Given the description of an element on the screen output the (x, y) to click on. 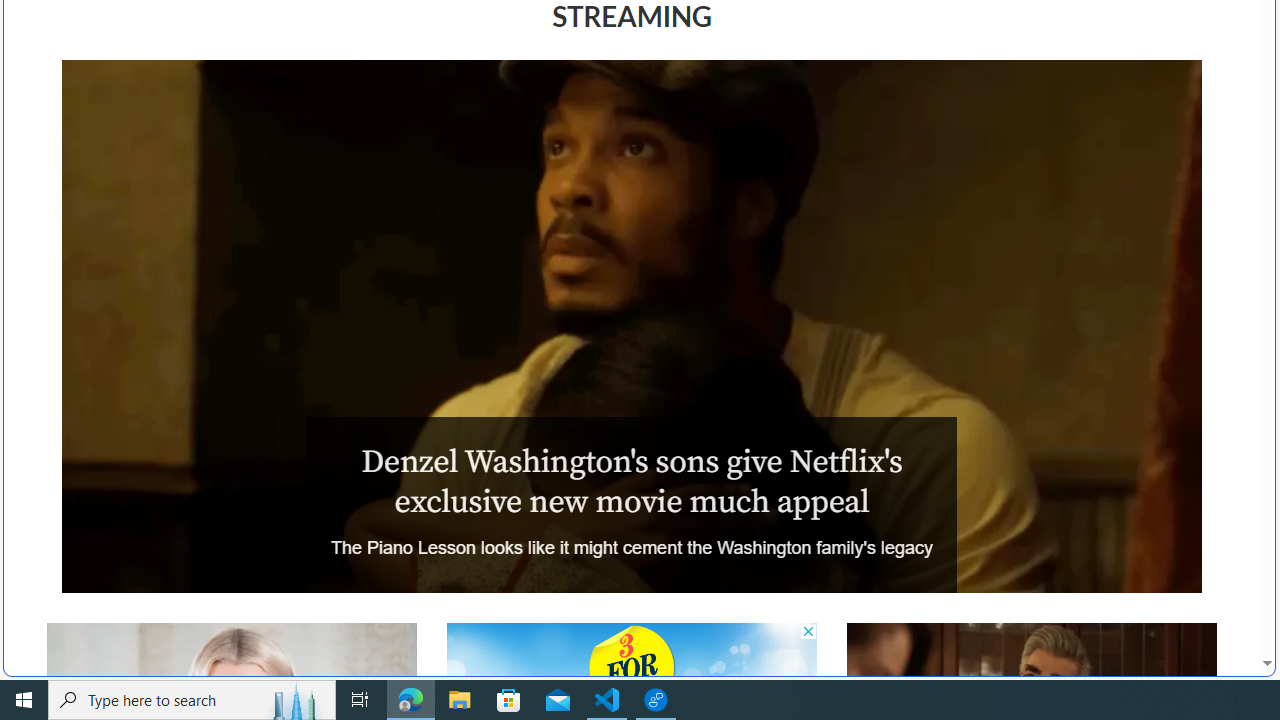
The Piano Lesson (631, 326)
